Given the description of an element on the screen output the (x, y) to click on. 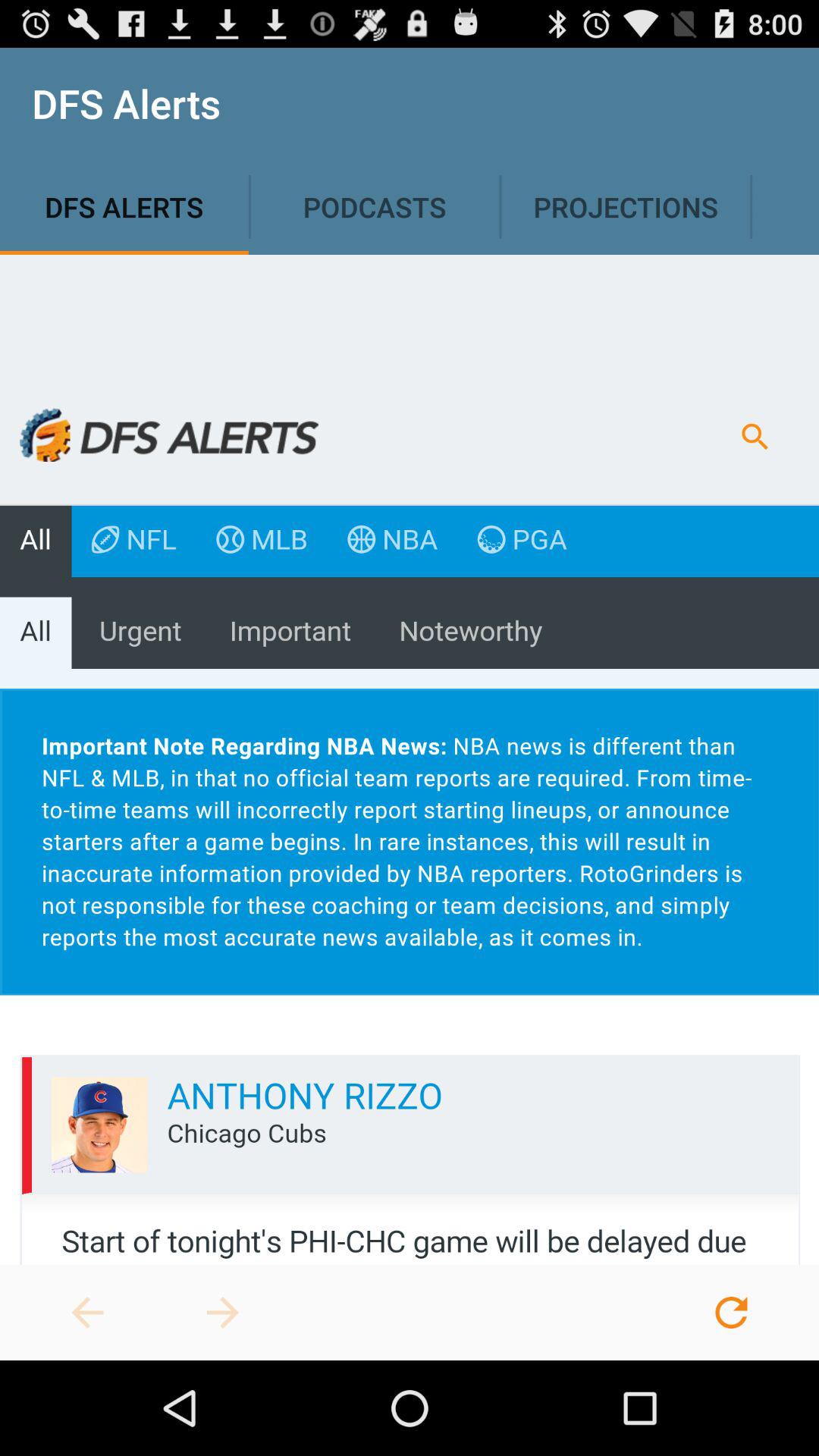
advances to next page (222, 1312)
